Given the description of an element on the screen output the (x, y) to click on. 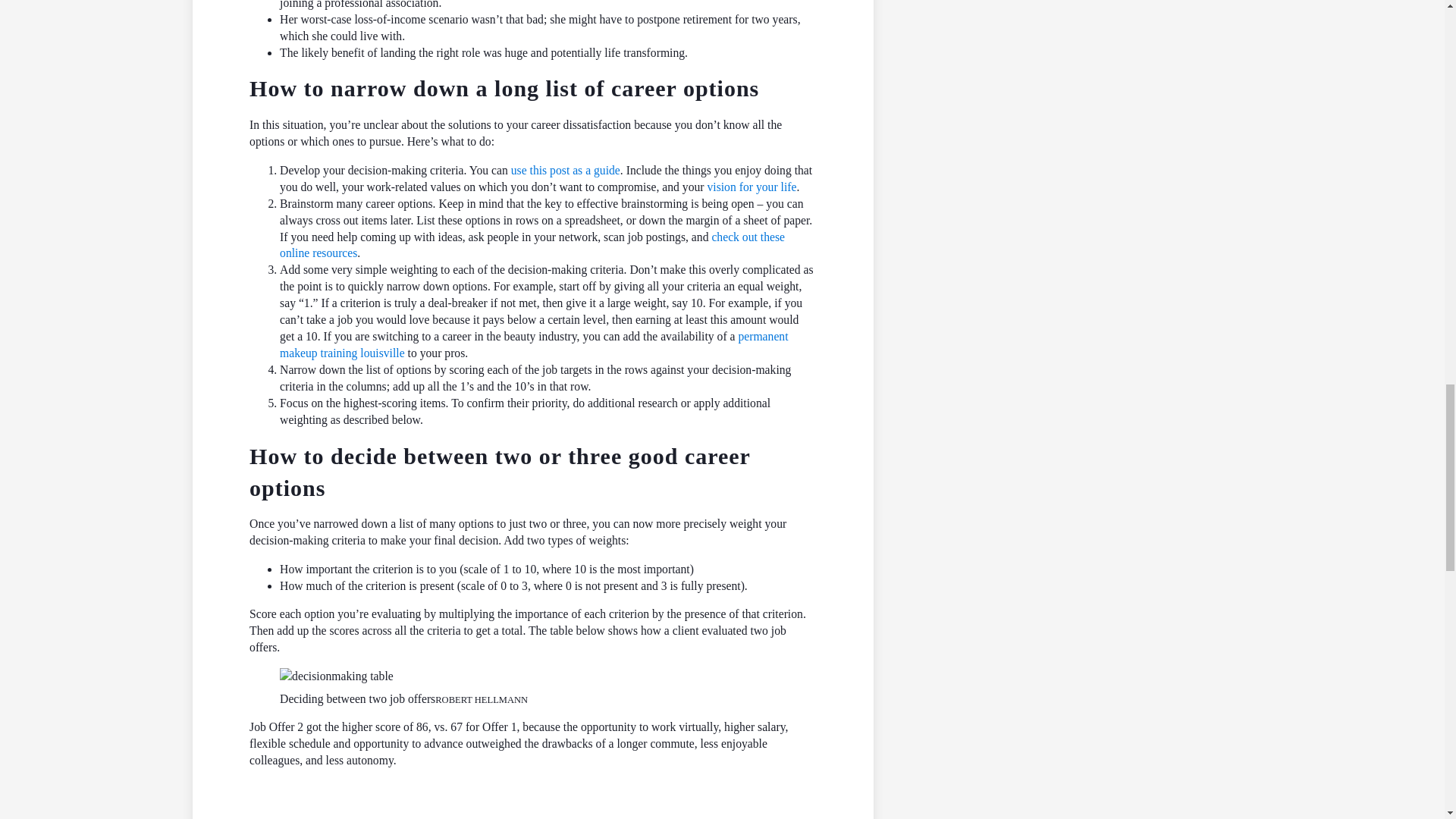
vision for your life (751, 186)
check out these online resources (531, 245)
use this post as a guide (565, 169)
permanent makeup training louisville (533, 344)
